Given the description of an element on the screen output the (x, y) to click on. 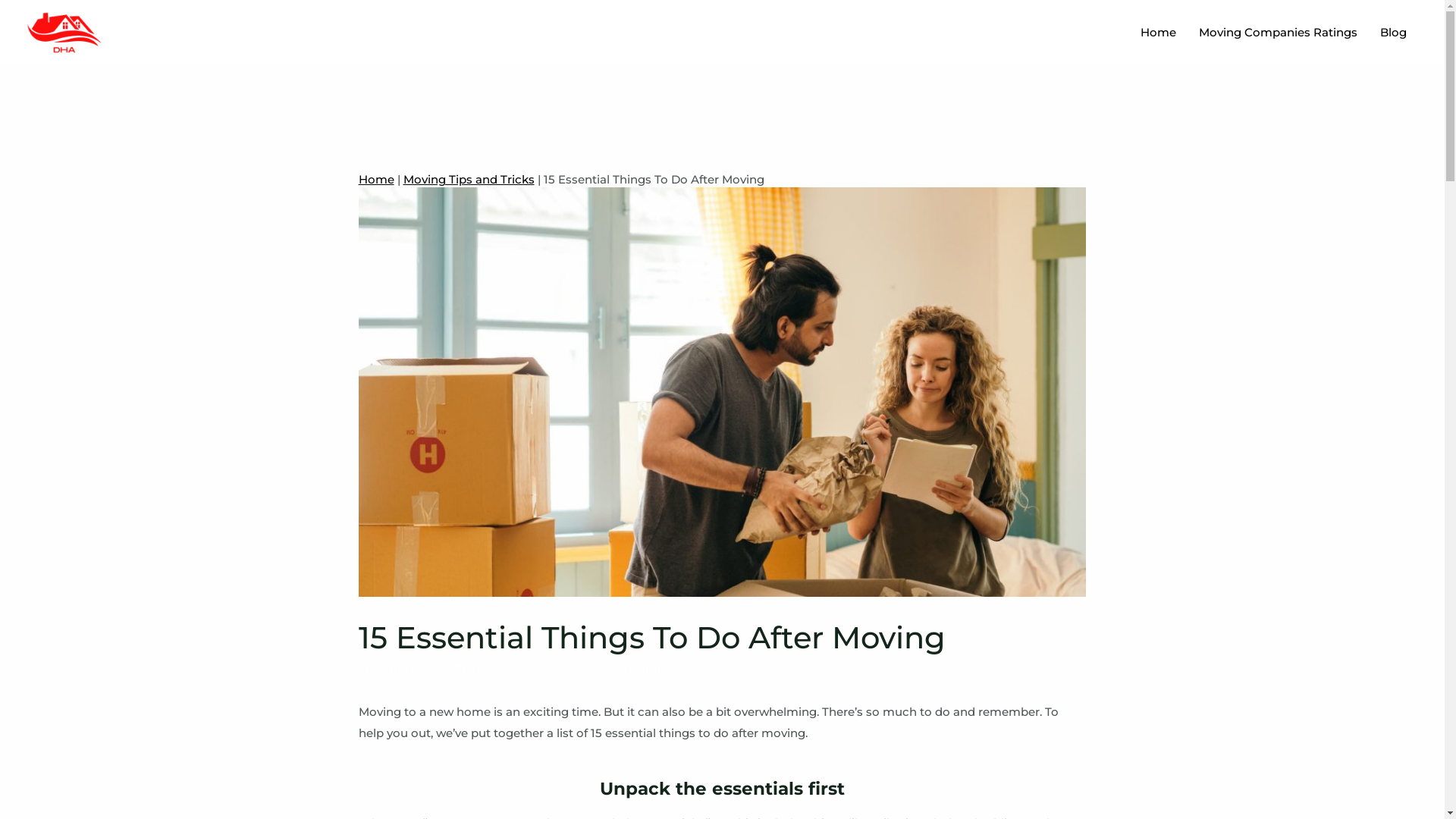
Home Element type: text (1158, 32)
Moving Tips and Tricks Element type: text (423, 669)
Blog Element type: text (1393, 32)
15 Essential Things To Do After Moving 2 Element type: hover (722, 391)
Home Element type: text (376, 179)
Leave a Comment Element type: text (635, 669)
Moving Companies Ratings Element type: text (1277, 32)
Moving Tips and Tricks Element type: text (468, 179)
